Given the description of an element on the screen output the (x, y) to click on. 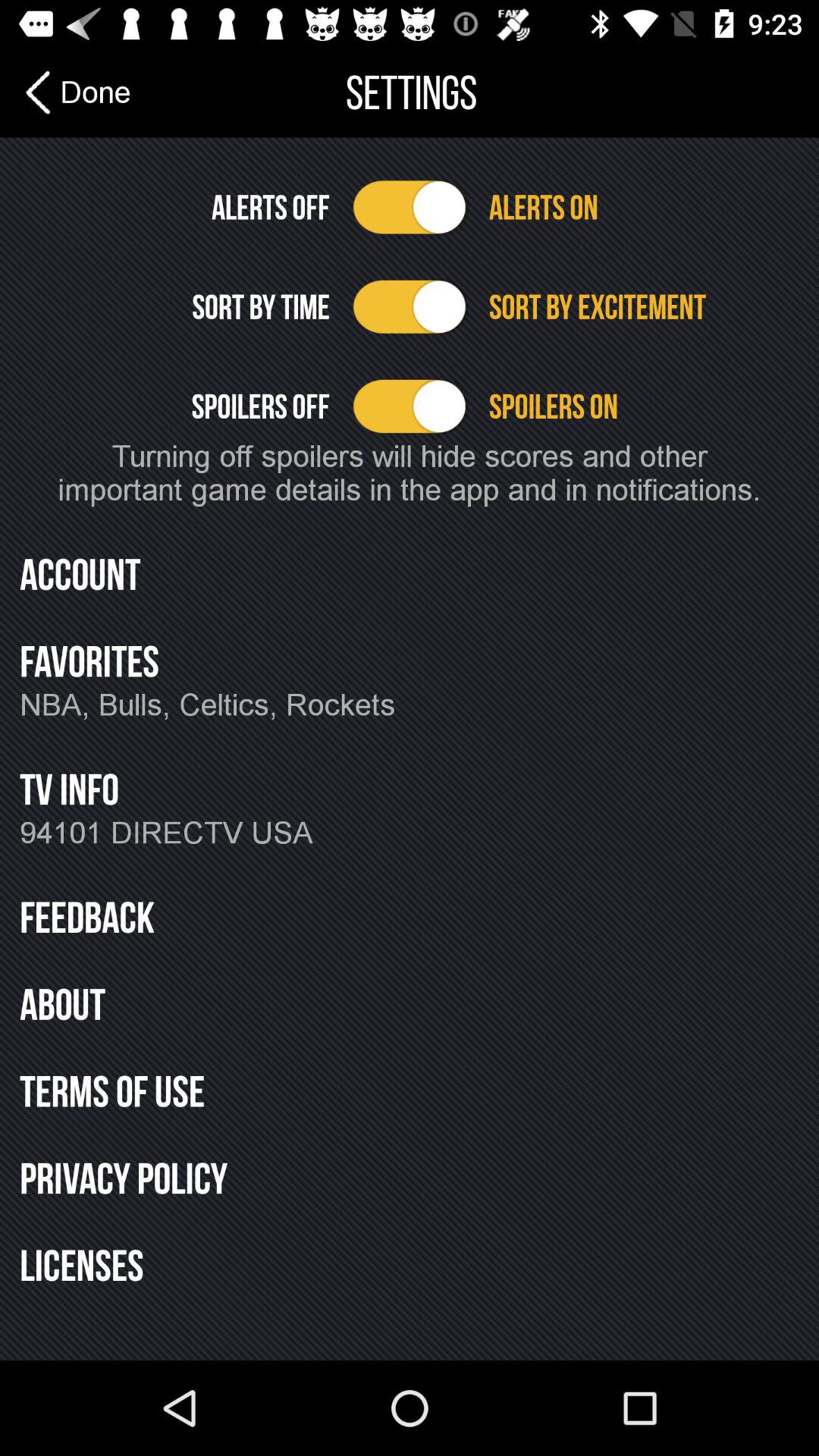
click the alerts on icon (644, 206)
